Given the description of an element on the screen output the (x, y) to click on. 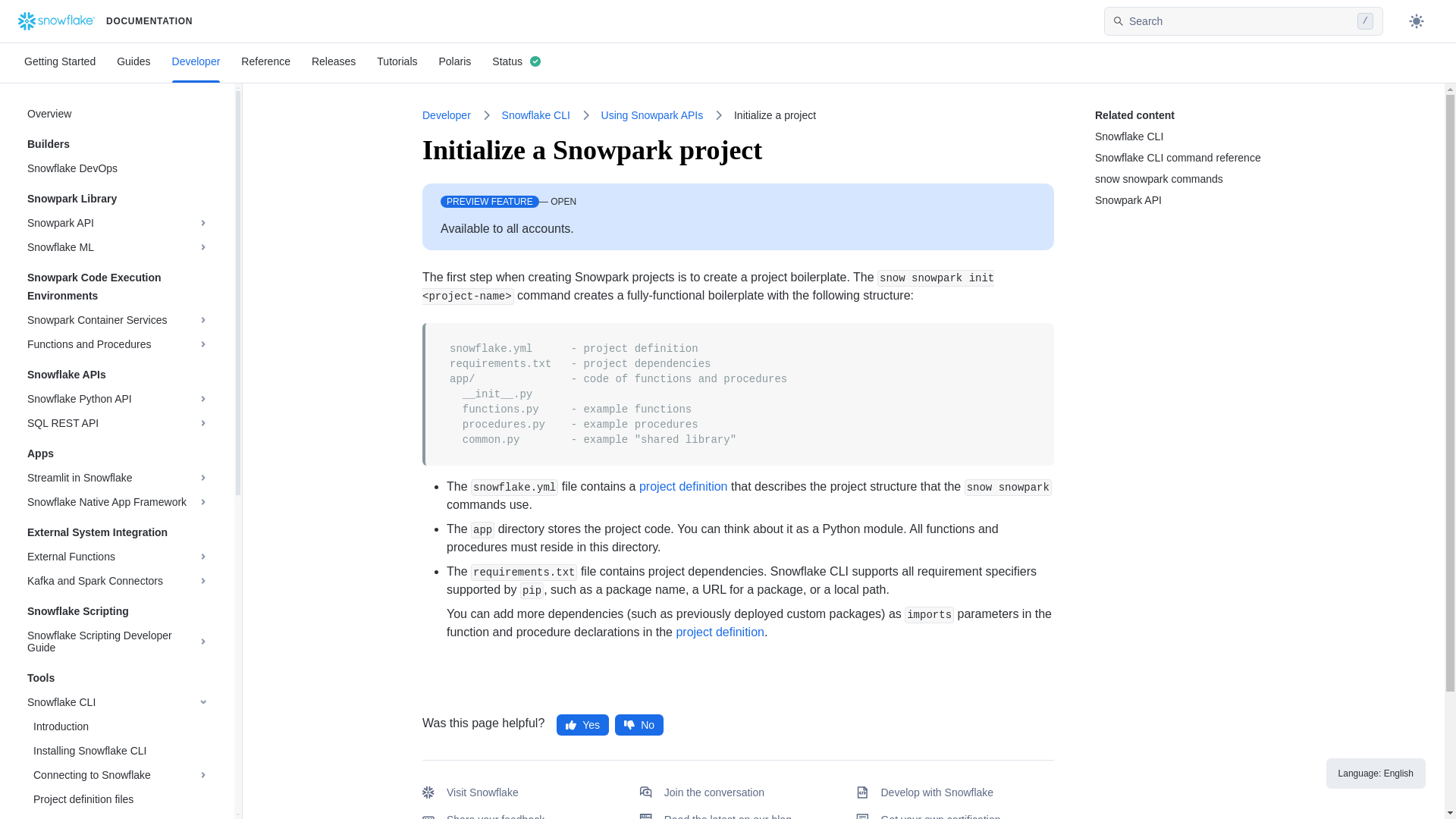
DOCUMENTATION (560, 21)
Connecting to Snowflake (114, 774)
Snowpark Container Services (111, 319)
Functions and Procedures (111, 344)
Installing Snowflake CLI (121, 750)
Snowflake Scripting Developer Guide (111, 641)
Guides (132, 61)
SQL REST API (111, 422)
Connecting to Snowflake (114, 774)
Snowflake CLI (111, 702)
Project definition files (121, 799)
Polaris (454, 61)
Reference (265, 61)
Getting Started (59, 61)
Overview (118, 113)
